Given the description of an element on the screen output the (x, y) to click on. 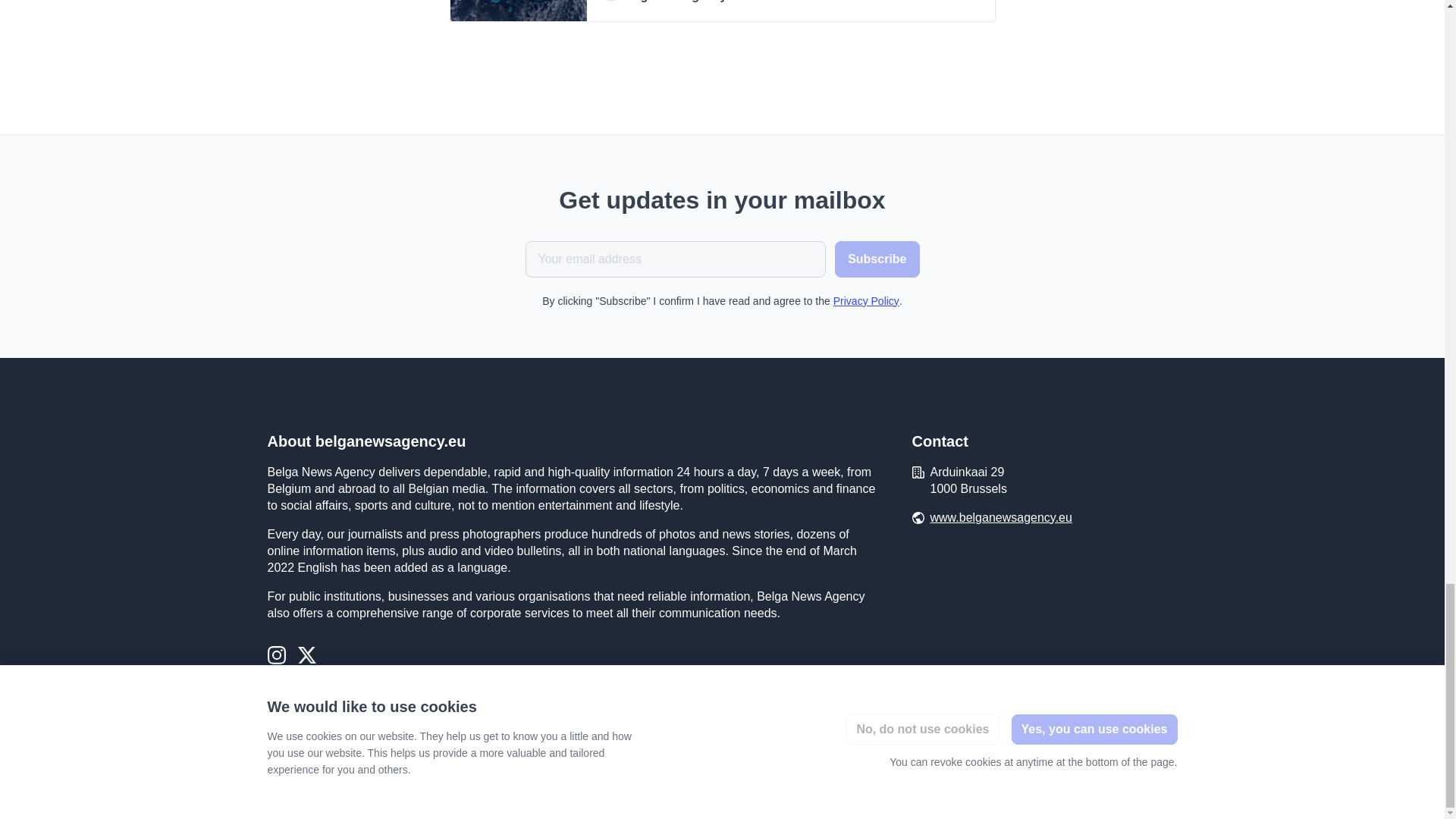
Instagram (275, 656)
Subscribe (876, 258)
www.belganewsagency.eu (1000, 517)
Start using cookies (402, 779)
Made with (1109, 779)
X (306, 656)
Privacy requests (305, 779)
belganewsagency.eu (790, 2)
Privacy Policy (865, 300)
